Given the description of an element on the screen output the (x, y) to click on. 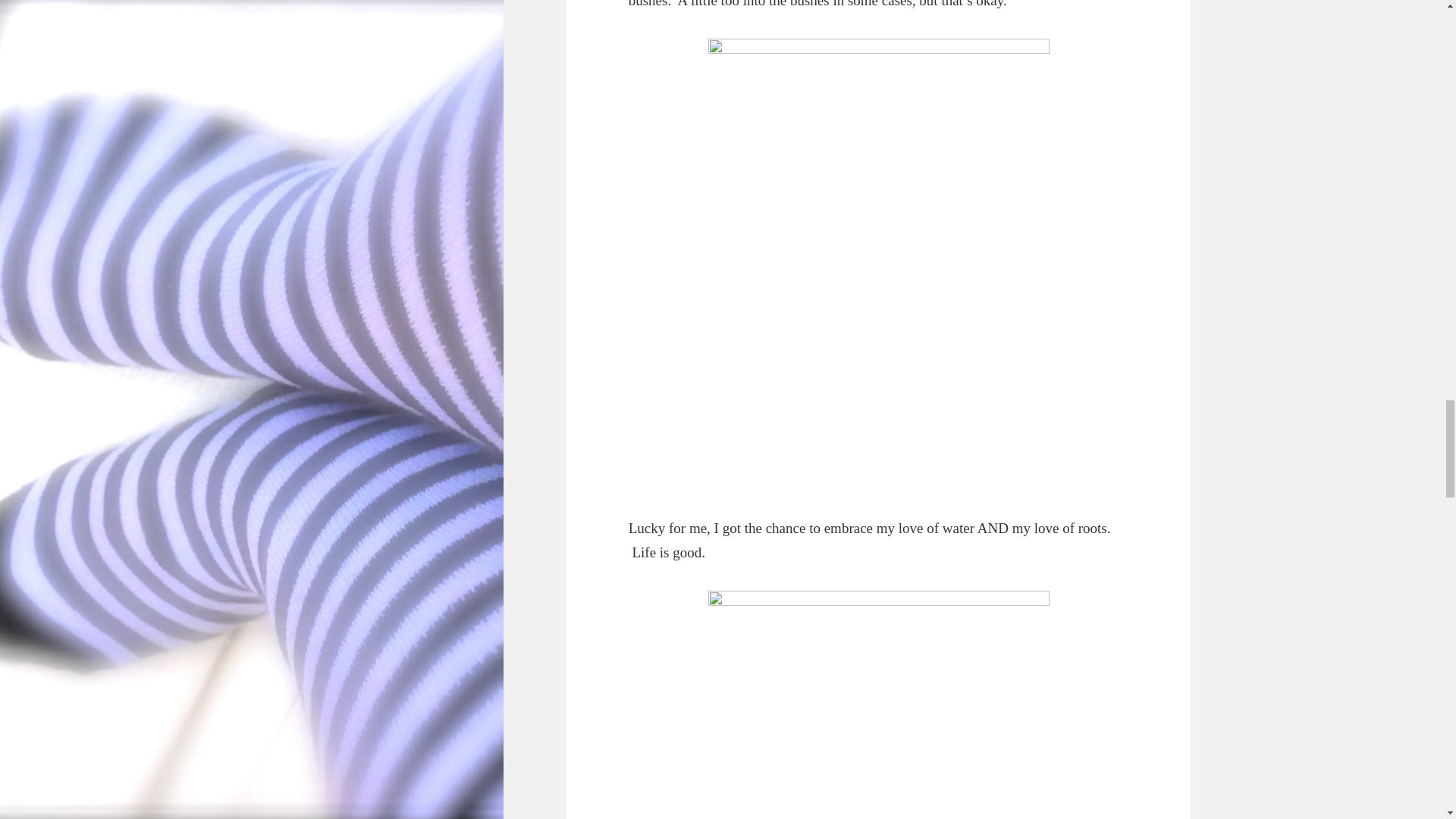
1007 will-stump (878, 703)
